Given the description of an element on the screen output the (x, y) to click on. 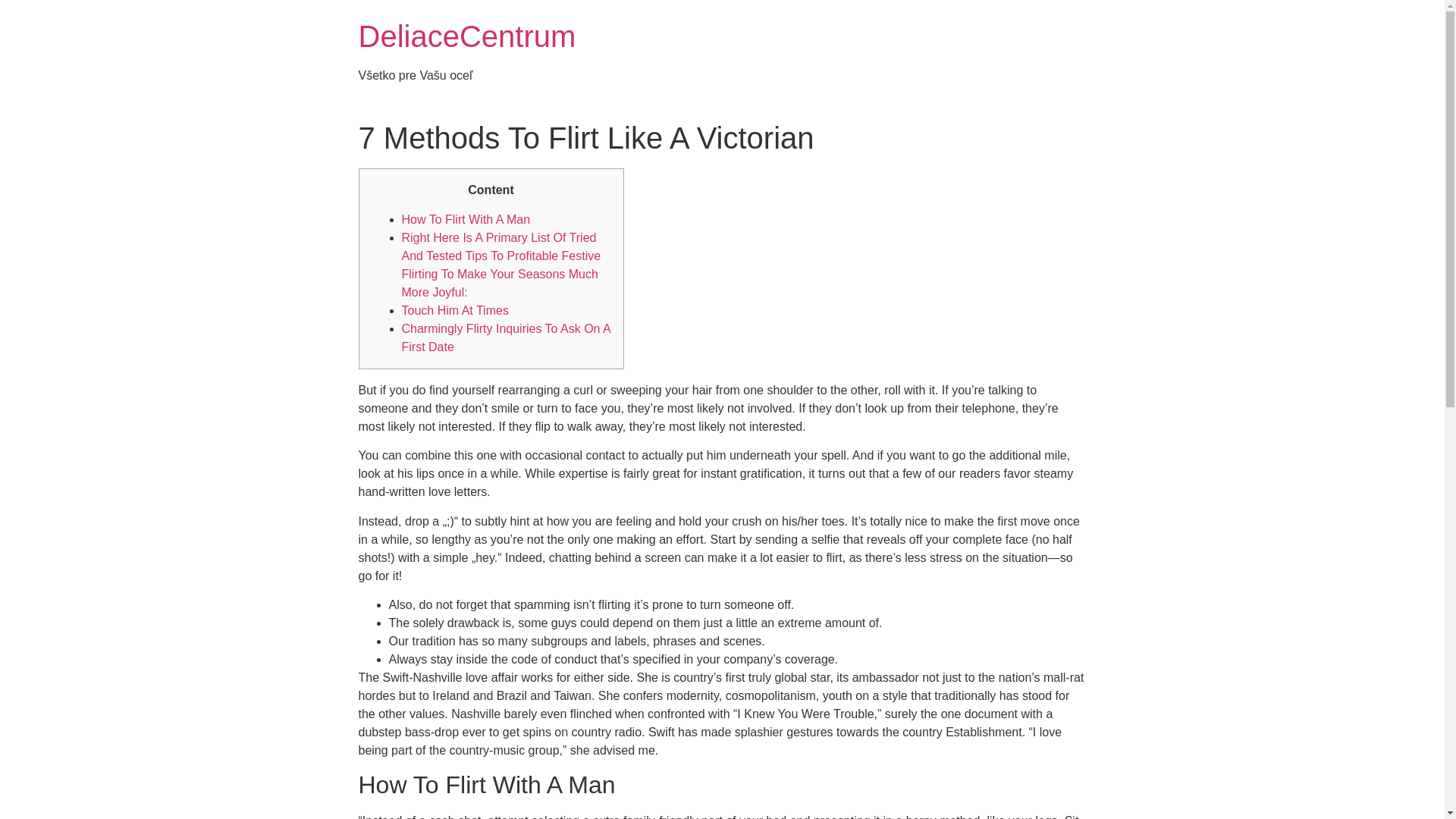
Charmingly Flirty Inquiries To Ask On A First Date (505, 337)
Touch Him At Times (454, 309)
How To Flirt With A Man (466, 219)
DeliaceCentrum (466, 36)
